Given the description of an element on the screen output the (x, y) to click on. 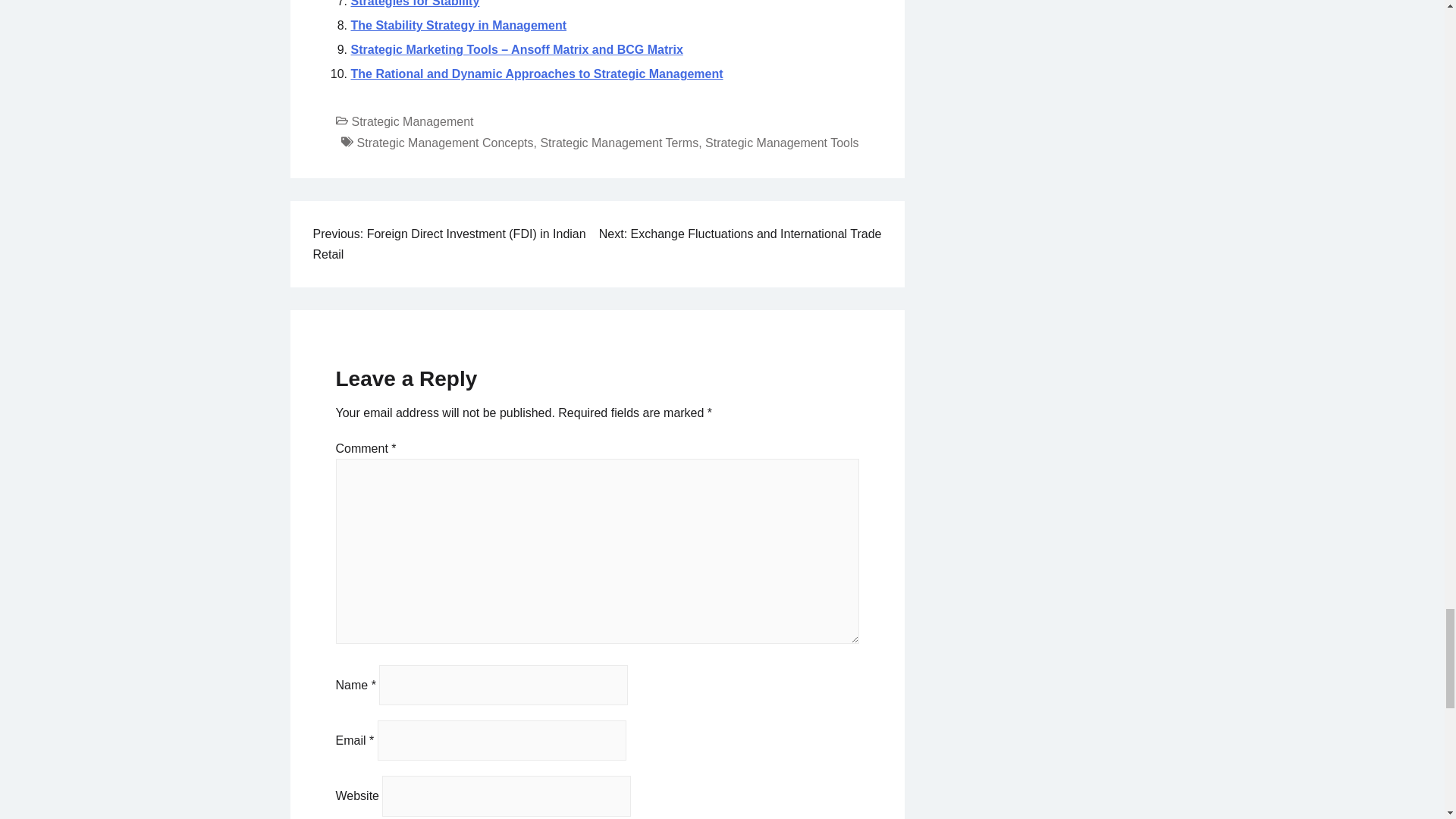
Strategies for Stability (414, 3)
Strategic Management (413, 121)
The Stability Strategy in Management (458, 24)
Strategies for Stability (414, 3)
The Stability Strategy in Management (458, 24)
The Rational and Dynamic Approaches to Strategic Management (536, 73)
